Given the description of an element on the screen output the (x, y) to click on. 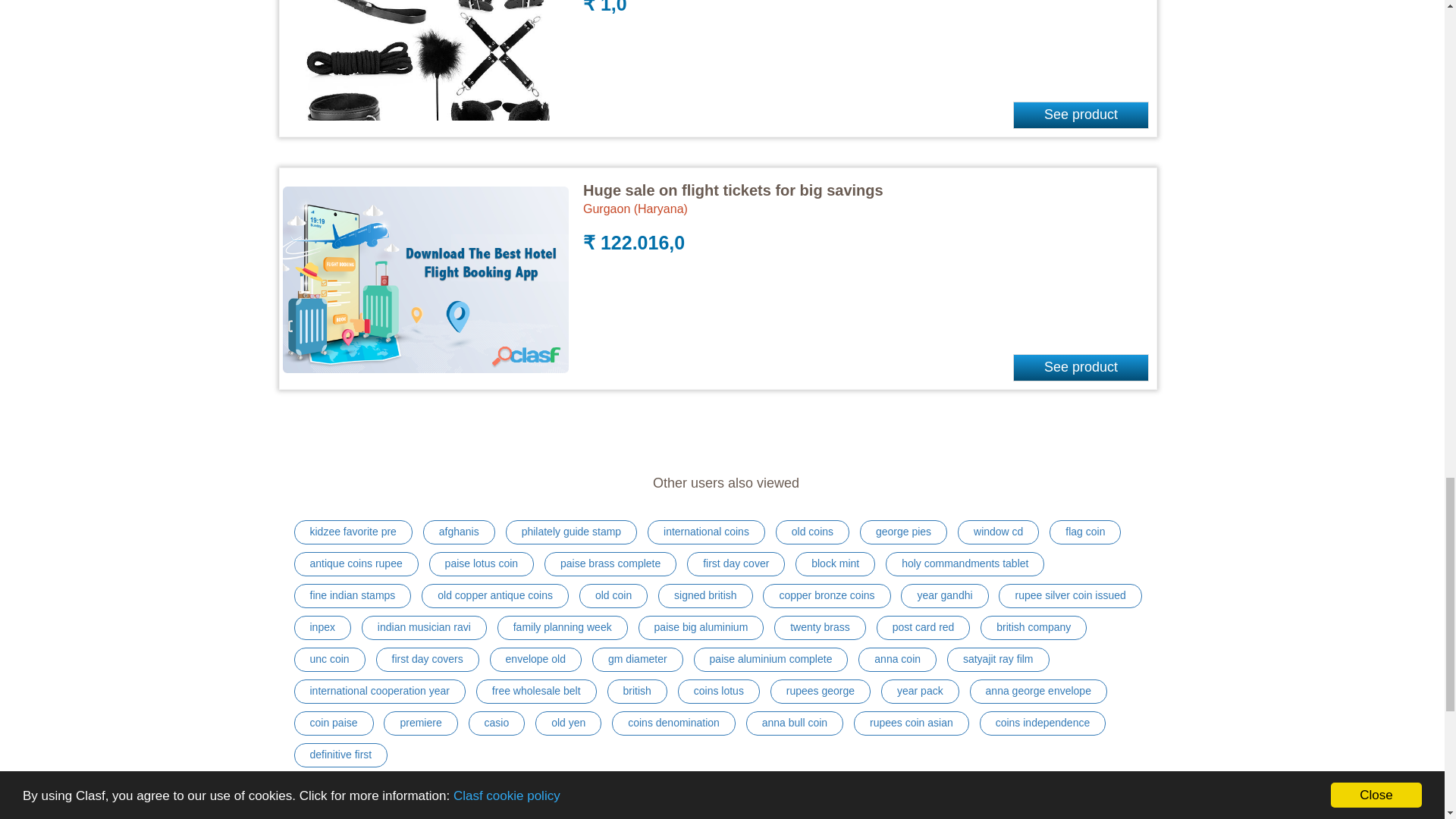
philately guide stamp (571, 532)
Huge sale on flight tickets for big savings (733, 190)
post card red (923, 627)
paise big aluminium (701, 627)
old coin (613, 595)
fine indian stamps (353, 595)
antique coins rupee (356, 564)
copper bronze coins (825, 595)
international coins (706, 532)
holy commandments tablet (964, 564)
year gandhi (944, 595)
afghanis (459, 532)
flag coin (1085, 532)
indian musician ravi (423, 627)
kidzee favorite pre (353, 532)
